Given the description of an element on the screen output the (x, y) to click on. 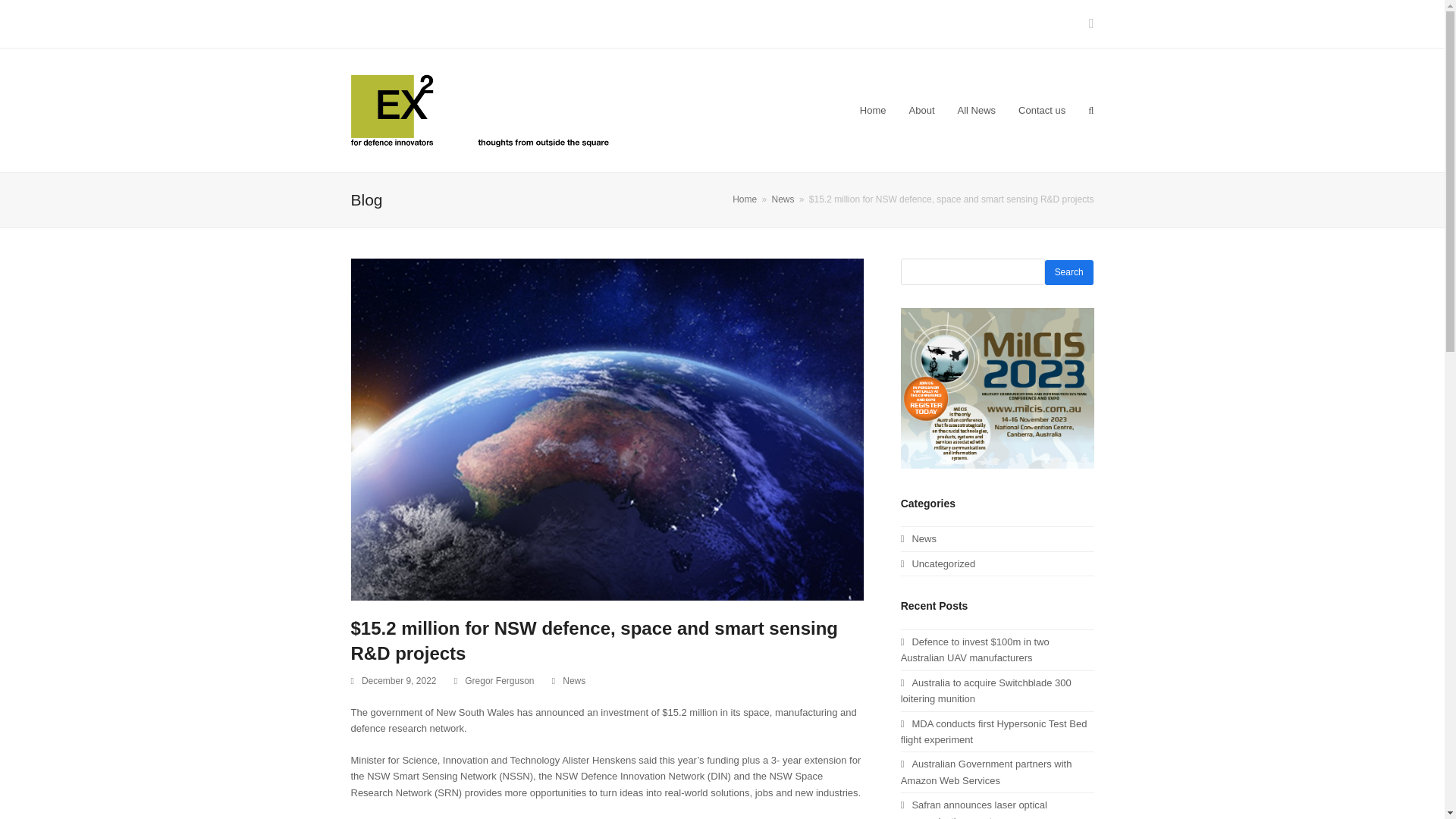
MDA conducts first Hypersonic Test Bed flight experiment (994, 731)
Home (873, 110)
Home (744, 199)
All News (976, 110)
News (918, 538)
Contact us (1042, 110)
Australia to acquire Switchblade 300 loitering munition (986, 690)
News (573, 680)
News (782, 199)
Posts by Gregor Ferguson (499, 680)
Search (1069, 272)
About (922, 110)
Gregor Ferguson (499, 680)
Uncategorized (938, 563)
